Given the description of an element on the screen output the (x, y) to click on. 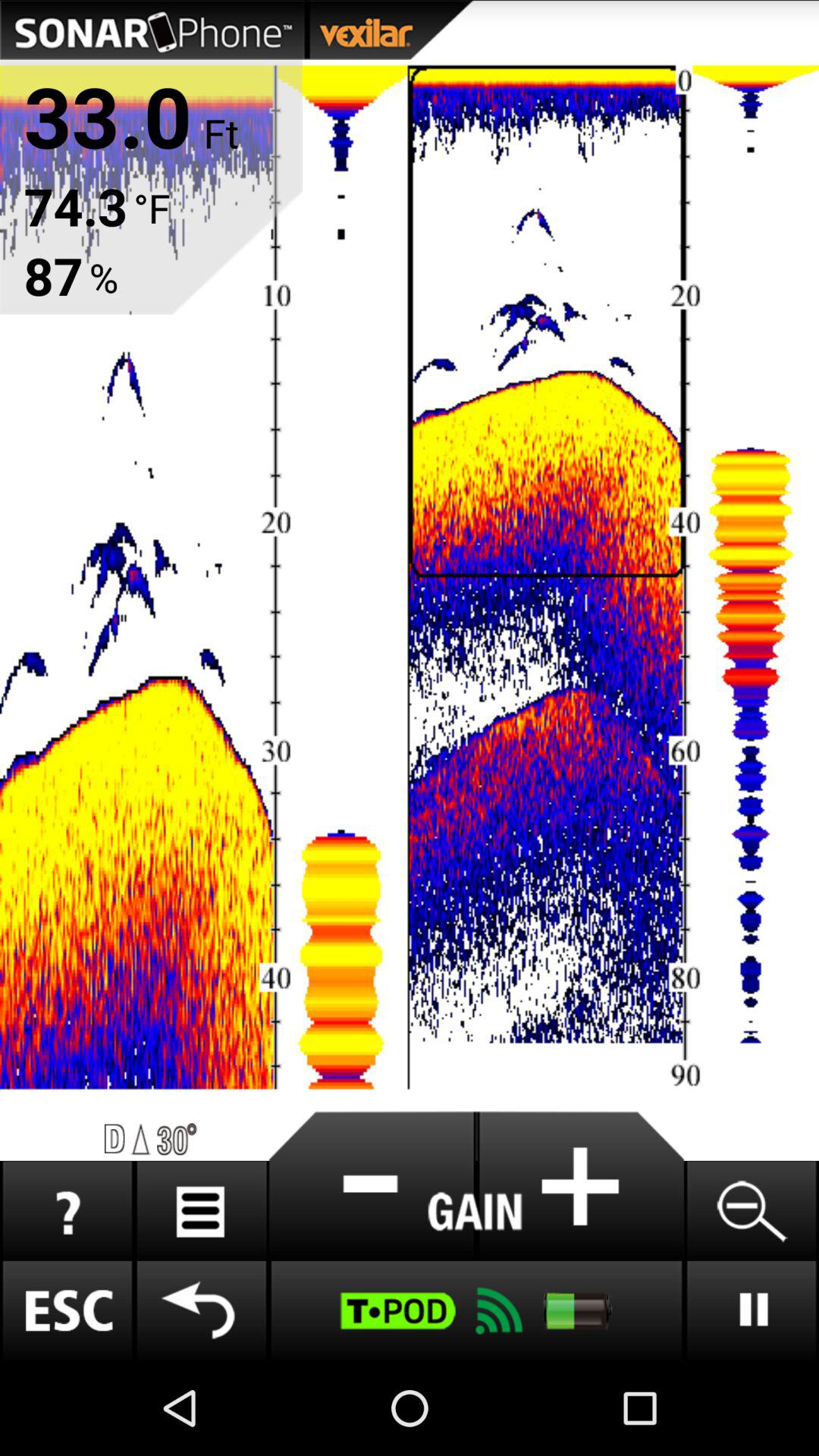
pause (751, 1310)
